Given the description of an element on the screen output the (x, y) to click on. 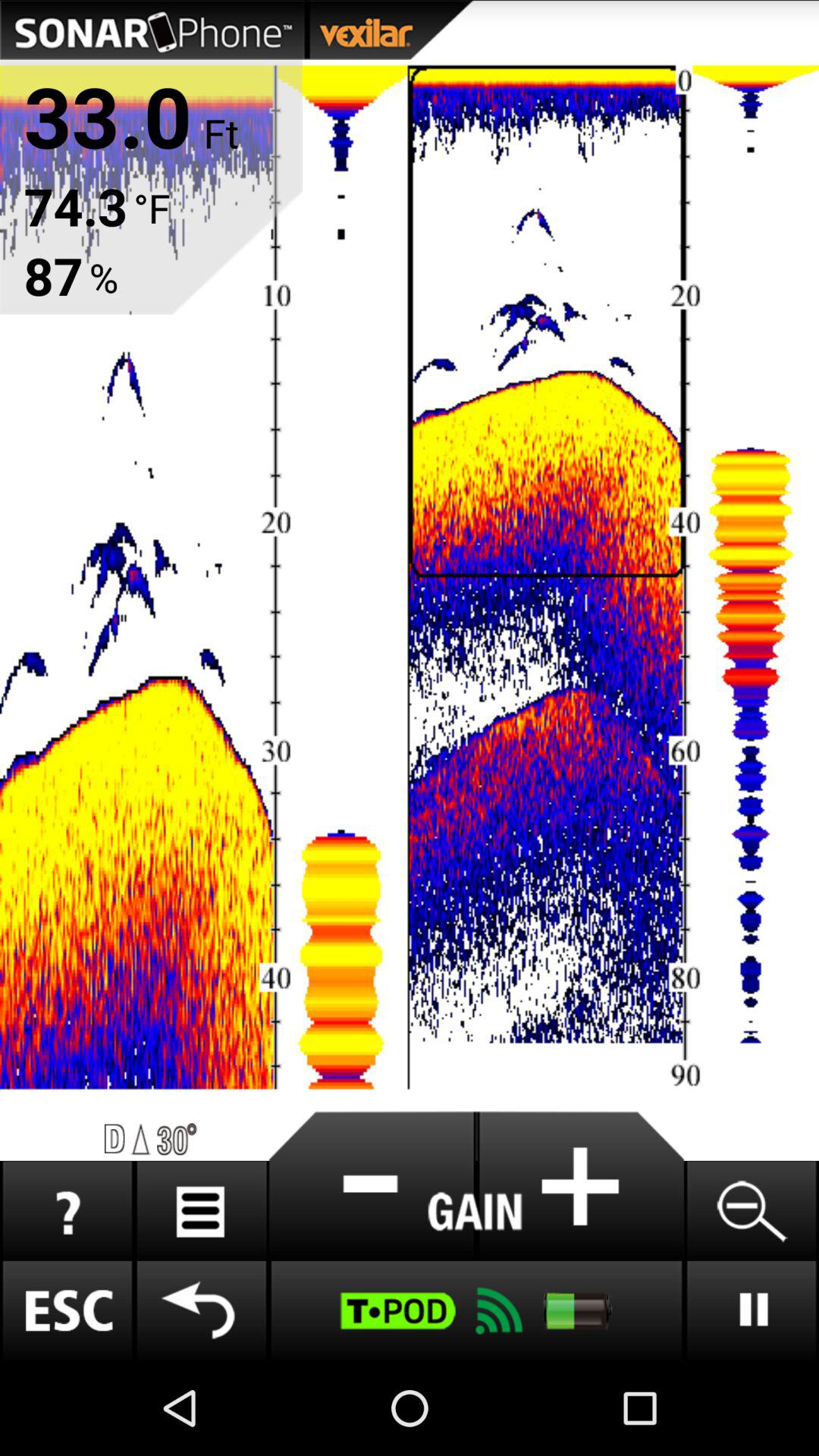
pause (751, 1310)
